Given the description of an element on the screen output the (x, y) to click on. 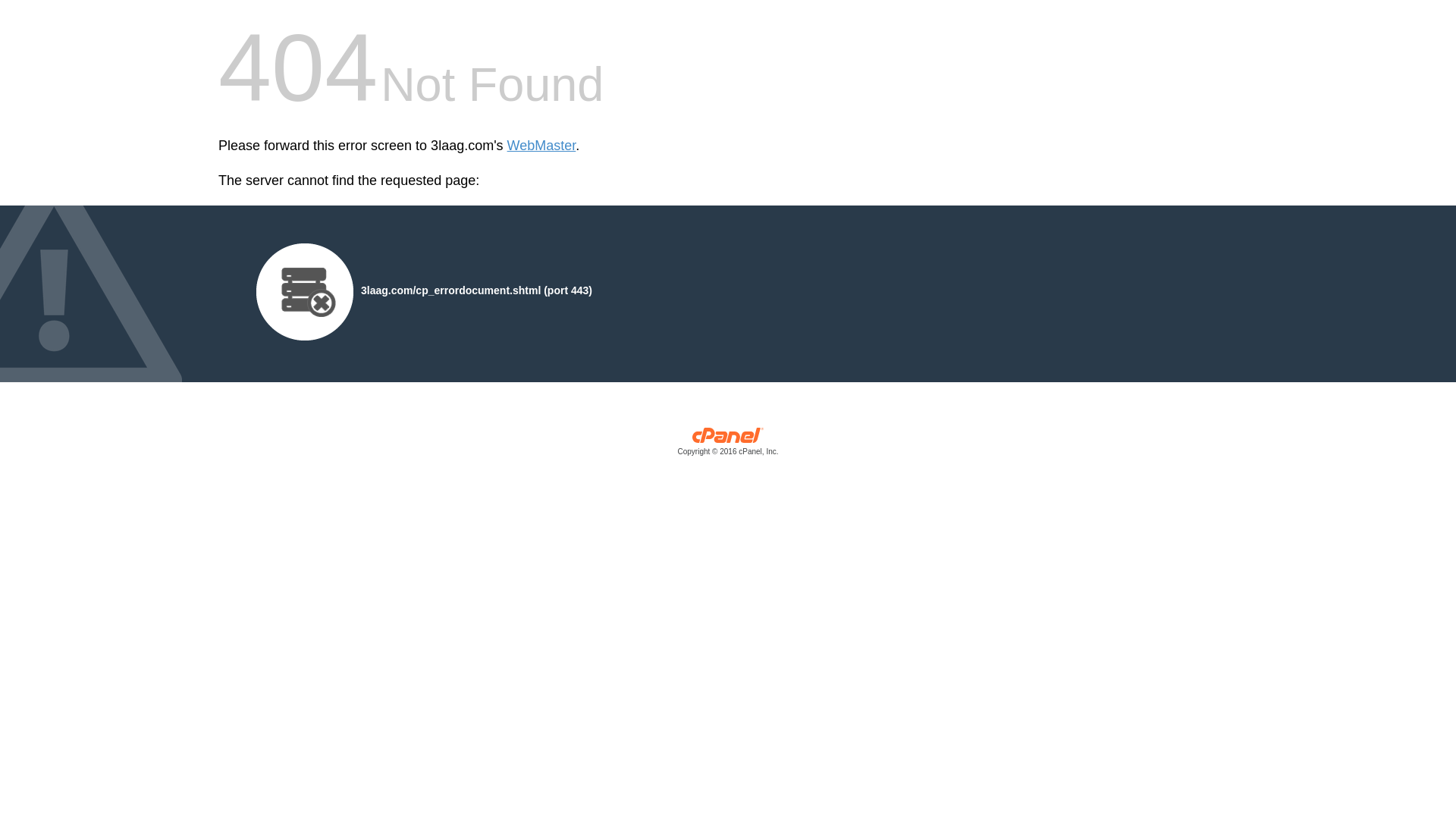
WebMaster Element type: text (541, 145)
